Given the description of an element on the screen output the (x, y) to click on. 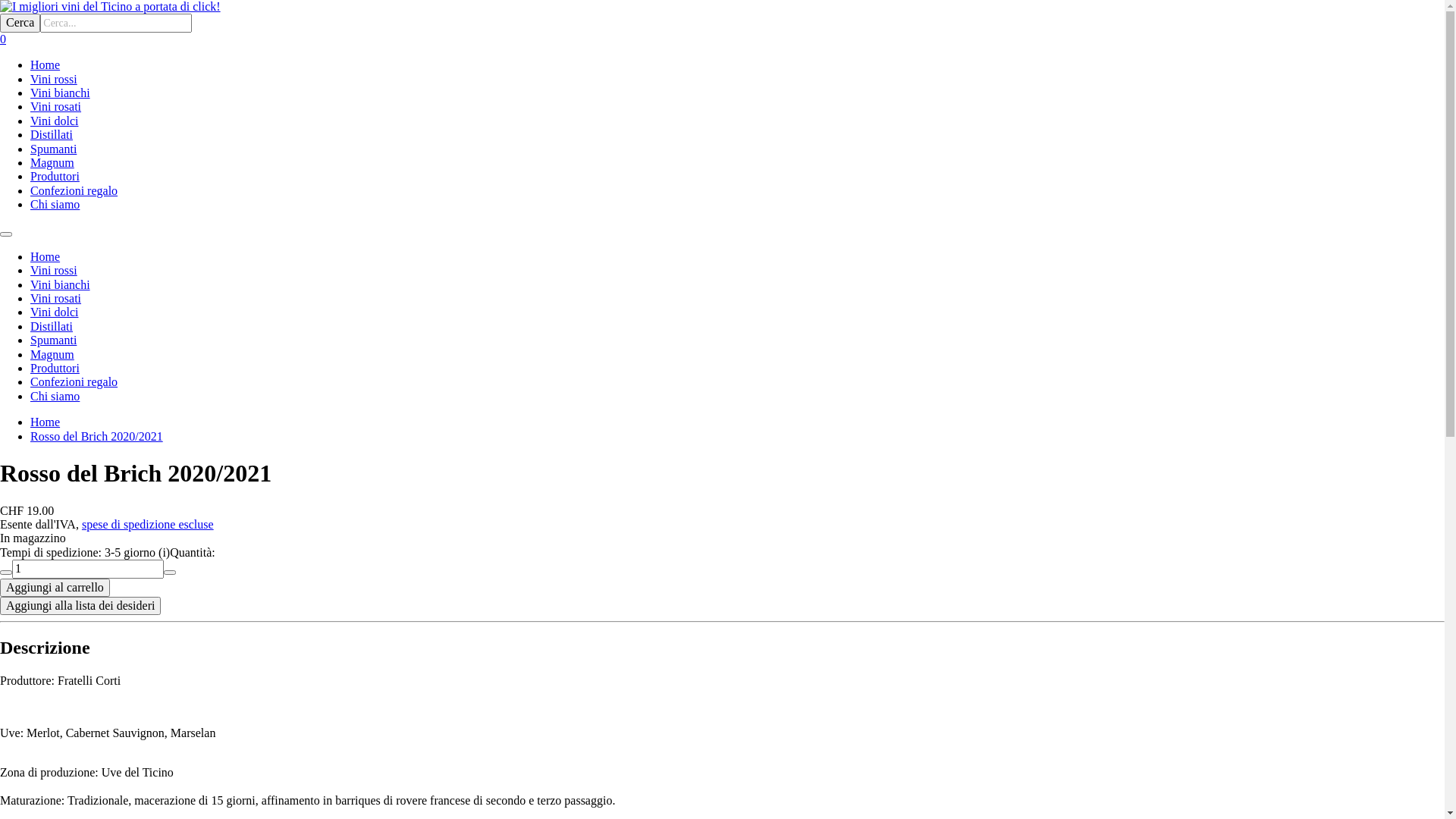
Rosso del Brich 2020/2021 Element type: text (96, 435)
Vini bianchi Element type: text (60, 284)
spese di spedizione escluse Element type: text (147, 523)
Home Element type: text (44, 64)
Vini dolci Element type: text (54, 311)
Chi siamo Element type: text (54, 203)
Magnum Element type: text (52, 162)
Cerca Element type: text (20, 22)
Confezioni regalo Element type: text (73, 381)
Aggiungi al carrello Element type: text (54, 587)
I migliori vini del Ticino a portata di click! Element type: hover (722, 6)
Home Element type: text (44, 256)
Vini bianchi Element type: text (60, 92)
Confezioni regalo Element type: text (73, 190)
Vini dolci Element type: text (54, 120)
Vini rossi Element type: text (53, 78)
Home Element type: text (44, 421)
Aggiungi alla lista dei desideri Element type: text (80, 605)
Vini rosati Element type: text (55, 106)
Magnum Element type: text (52, 354)
Accedi al carrello. Hai 0 articoli nel carrello.
0 Element type: text (3, 38)
Produttori Element type: text (54, 367)
Chi siamo Element type: text (54, 395)
Vini rosati Element type: text (55, 297)
Distillati Element type: text (51, 134)
Distillati Element type: text (51, 326)
Vini rossi Element type: text (53, 269)
Produttori Element type: text (54, 175)
Spumanti Element type: text (53, 148)
Spumanti Element type: text (53, 339)
